Given the description of an element on the screen output the (x, y) to click on. 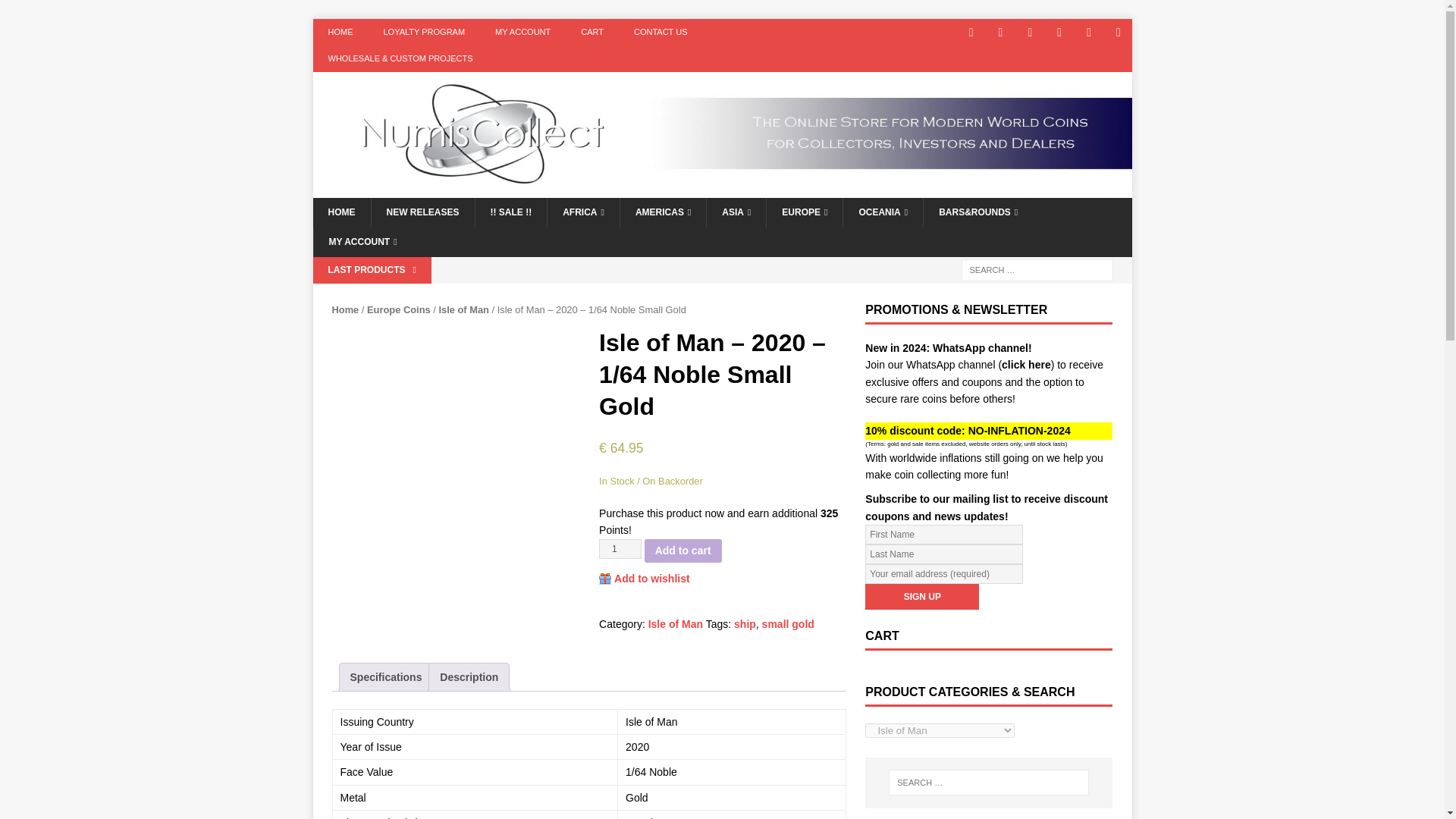
ASIA (735, 212)
AMERICAS (663, 212)
CART (592, 31)
The latest new releases (421, 212)
NEW RELEASES (421, 212)
Back to the homepage (341, 212)
HOME (341, 212)
MY ACCOUNT (523, 31)
Coin Wholesale (400, 58)
1 (620, 548)
